Given the description of an element on the screen output the (x, y) to click on. 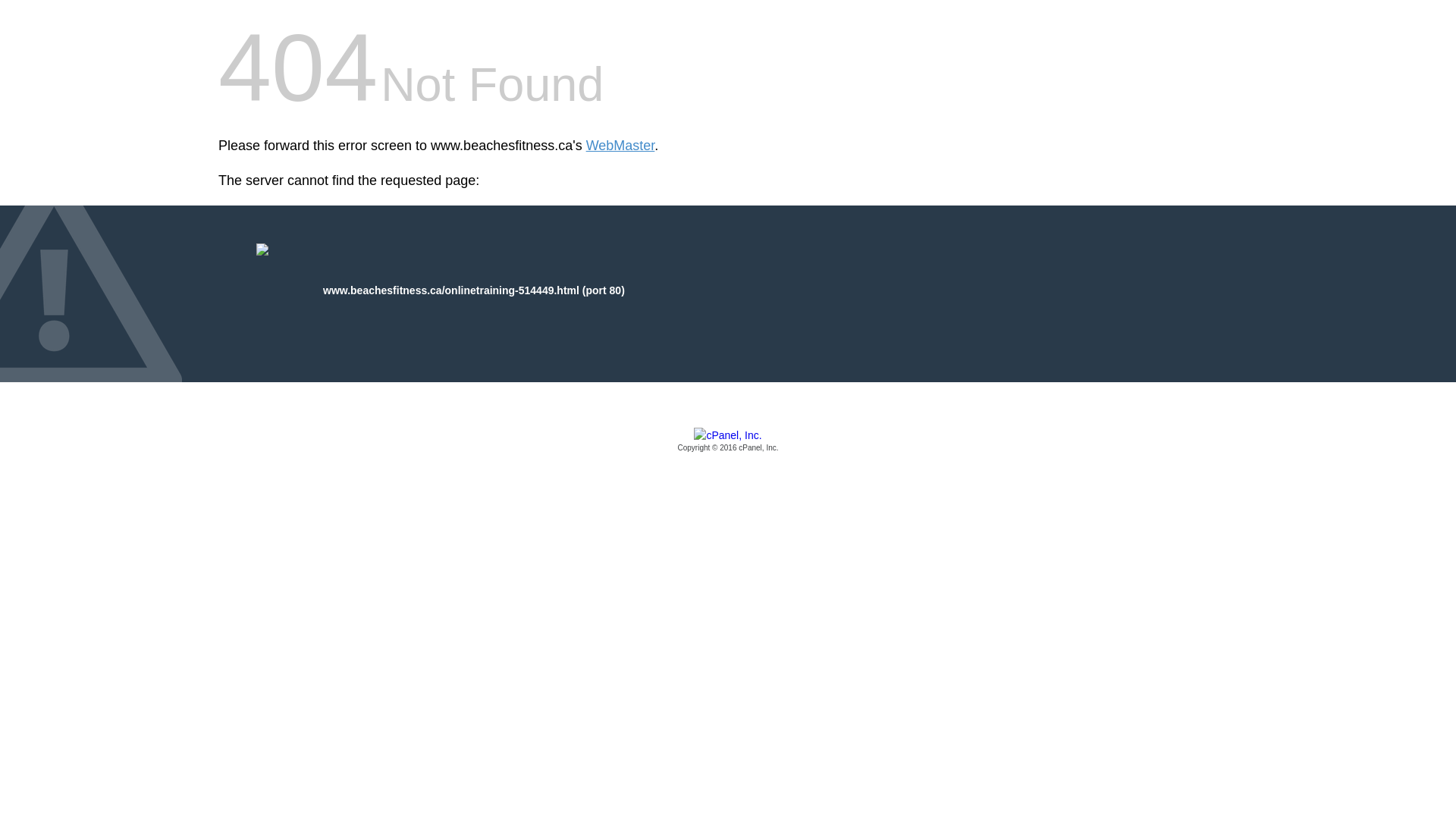
WebMaster Element type: text (620, 145)
